Given the description of an element on the screen output the (x, y) to click on. 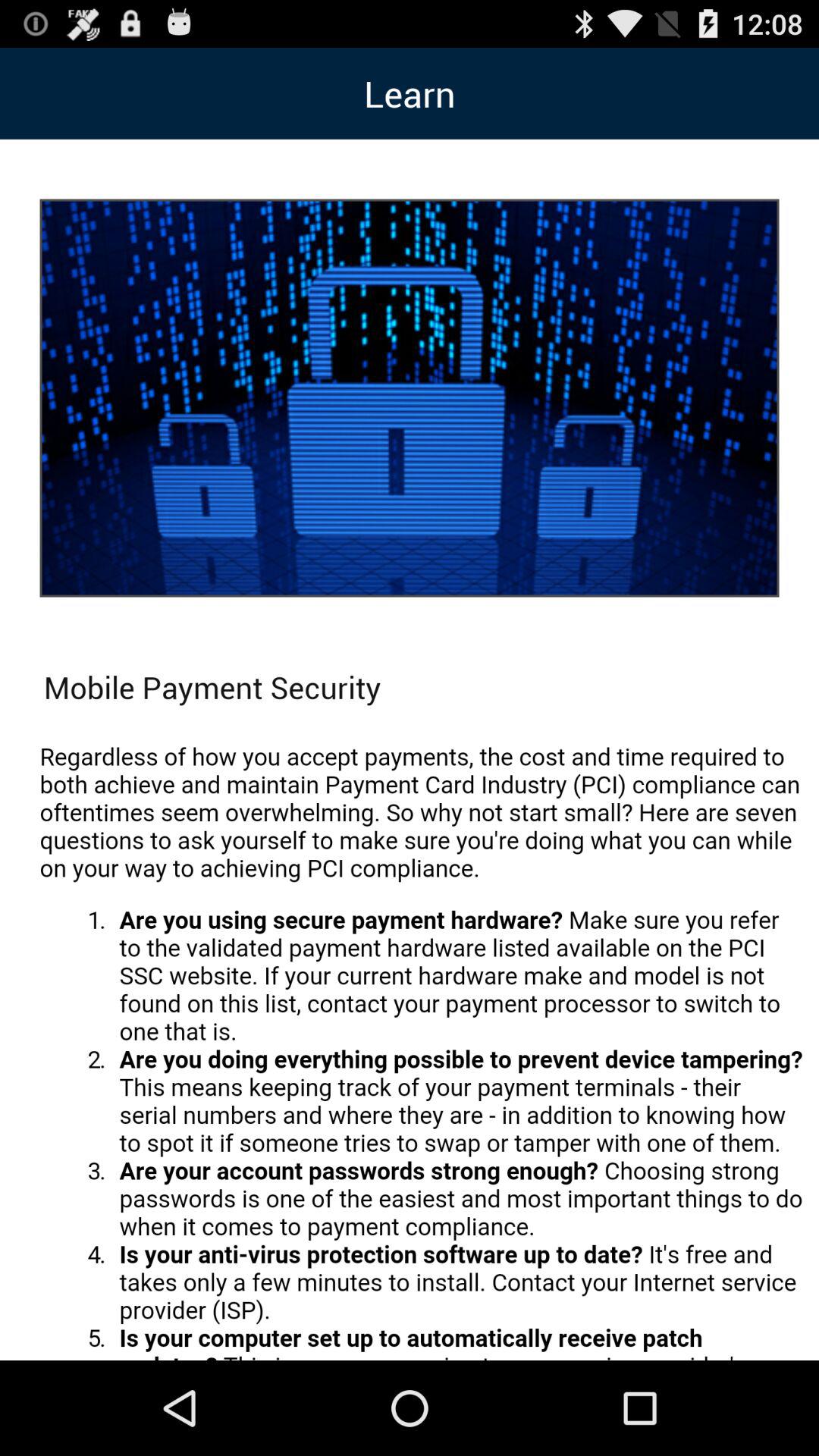
advatisment (421, 1043)
